Given the description of an element on the screen output the (x, y) to click on. 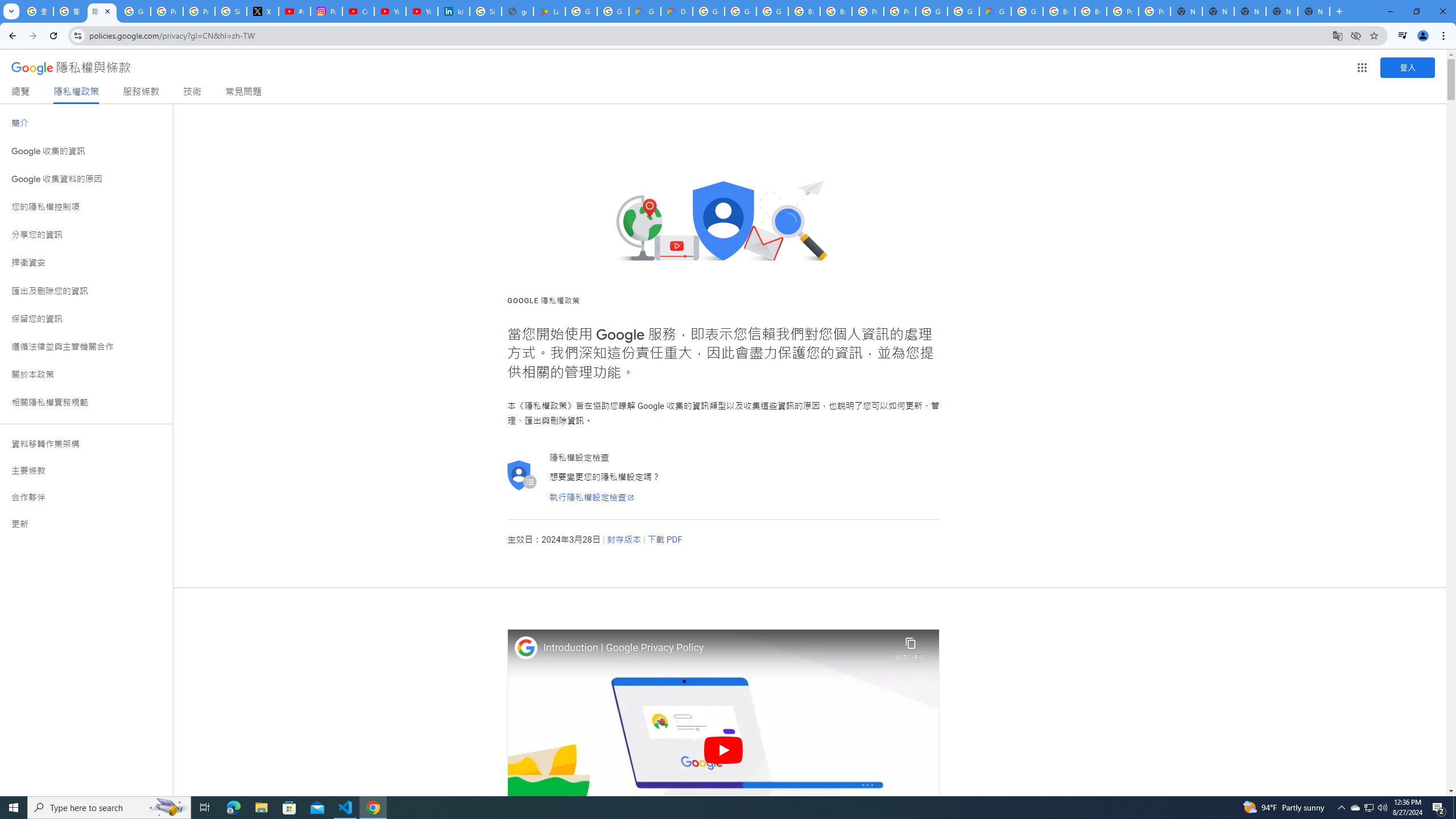
X (262, 11)
Translate this page (1336, 35)
Introduction | Google Privacy Policy (716, 648)
